Given the description of an element on the screen output the (x, y) to click on. 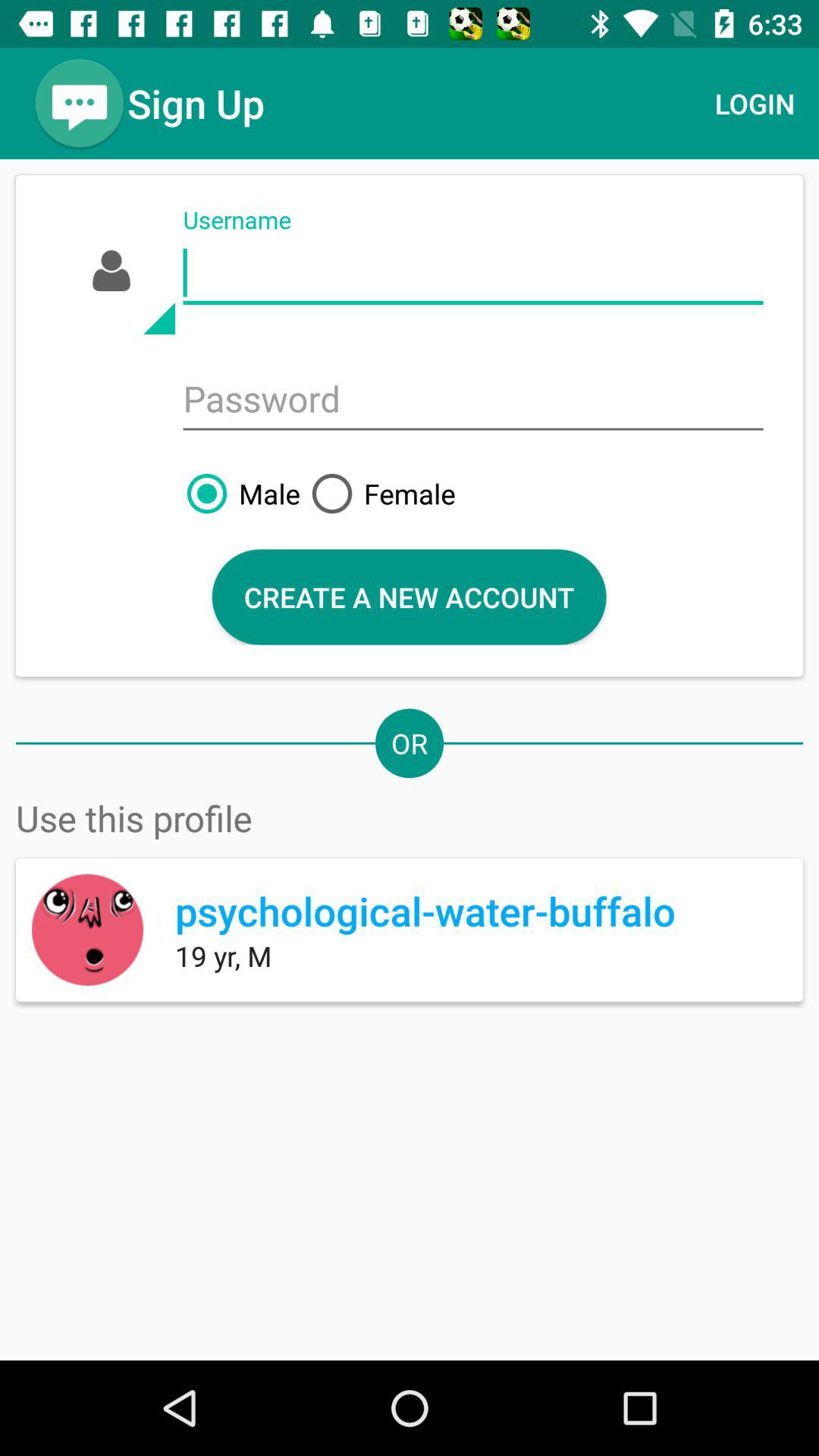
enter user password (473, 400)
